Given the description of an element on the screen output the (x, y) to click on. 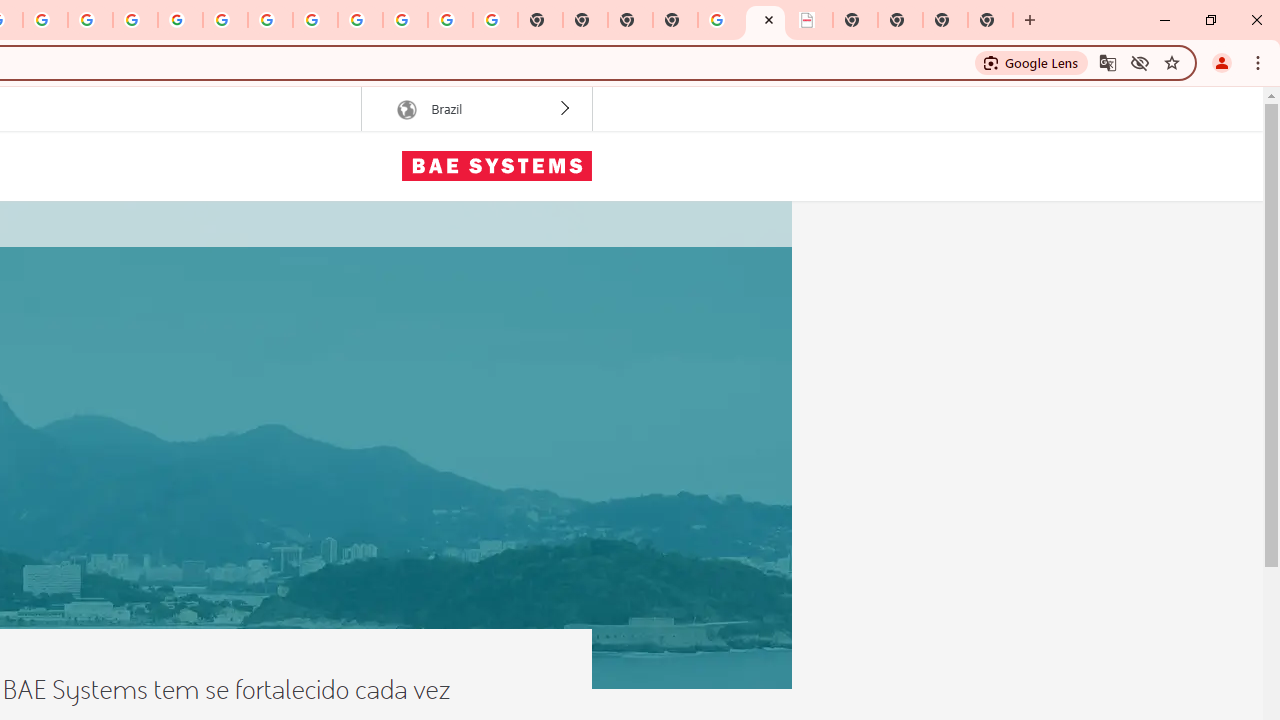
Search with Google Lens (1031, 62)
Browse Chrome as a guest - Computer - Google Chrome Help (270, 20)
 International Region Icon (406, 110)
Third-party cookies blocked (1139, 62)
YouTube (225, 20)
BAE Systems Brasil | BAE Systems (810, 20)
New Tab (989, 20)
BAE Systems (495, 165)
Privacy Help Center - Policies Help (45, 20)
